Given the description of an element on the screen output the (x, y) to click on. 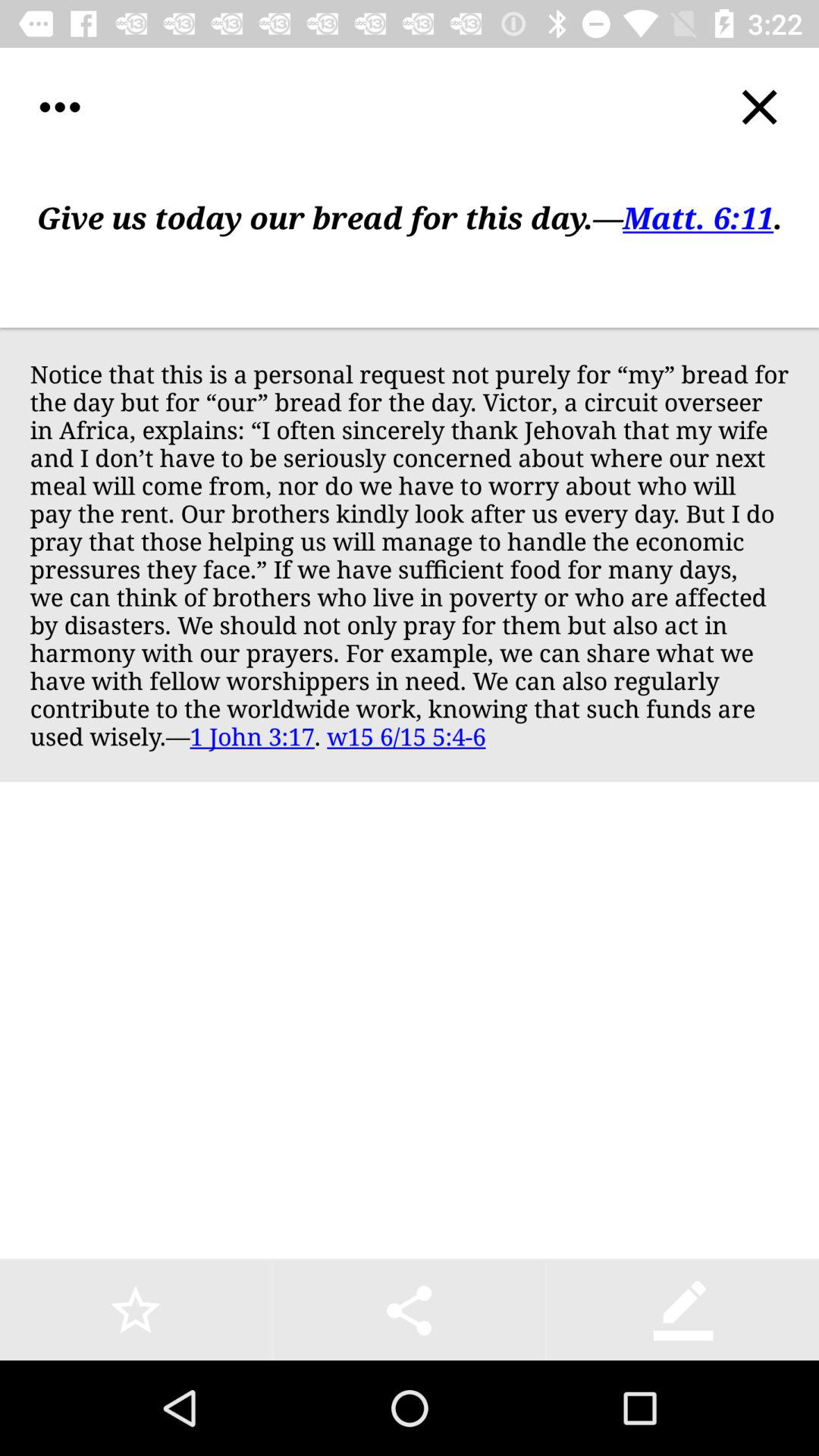
open app above the notice that this app (409, 247)
